Given the description of an element on the screen output the (x, y) to click on. 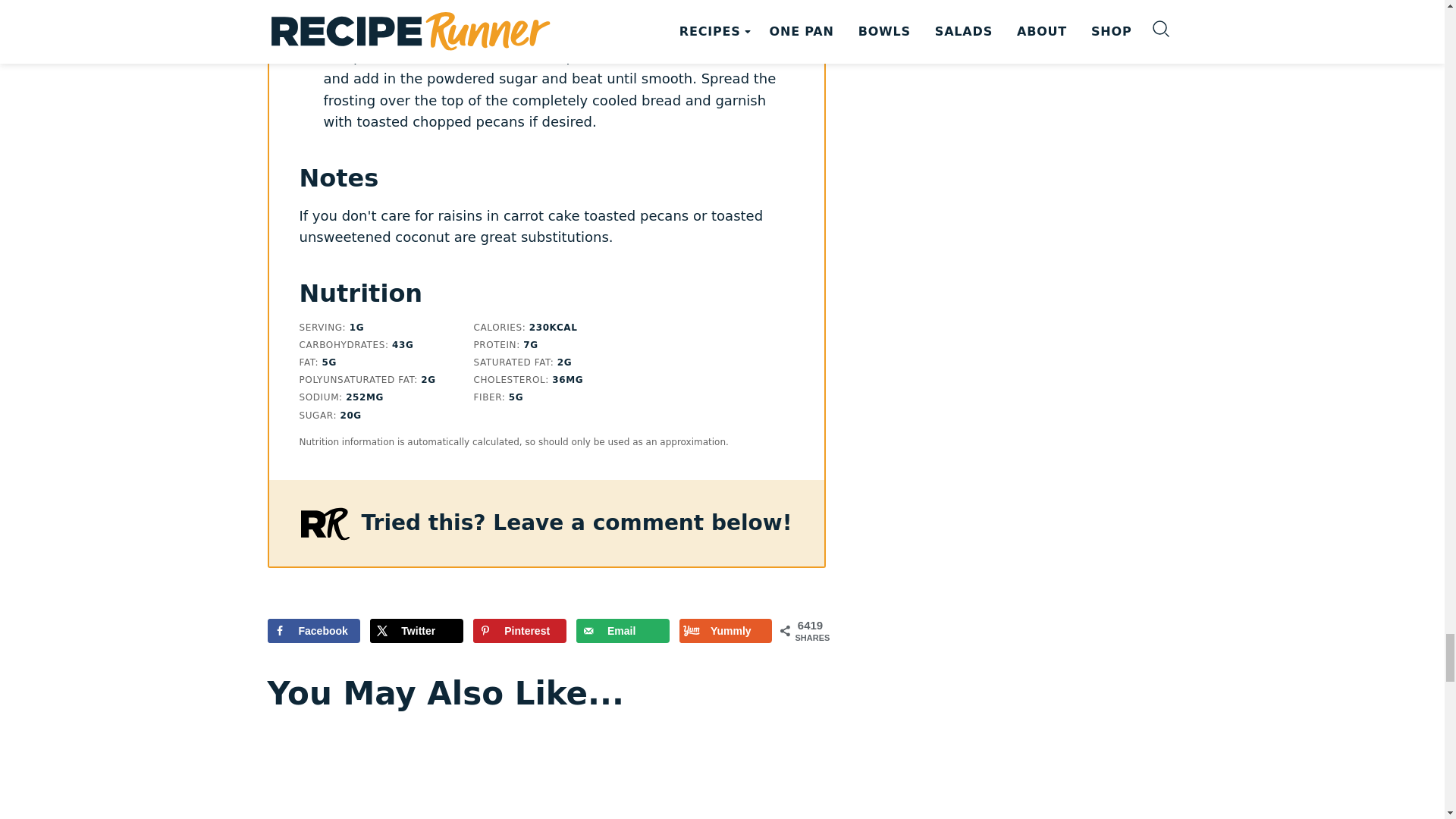
Send over email (622, 630)
Save to Pinterest (519, 630)
Share on Yummly (726, 630)
Share on X (416, 630)
Share on Facebook (312, 630)
